Given the description of an element on the screen output the (x, y) to click on. 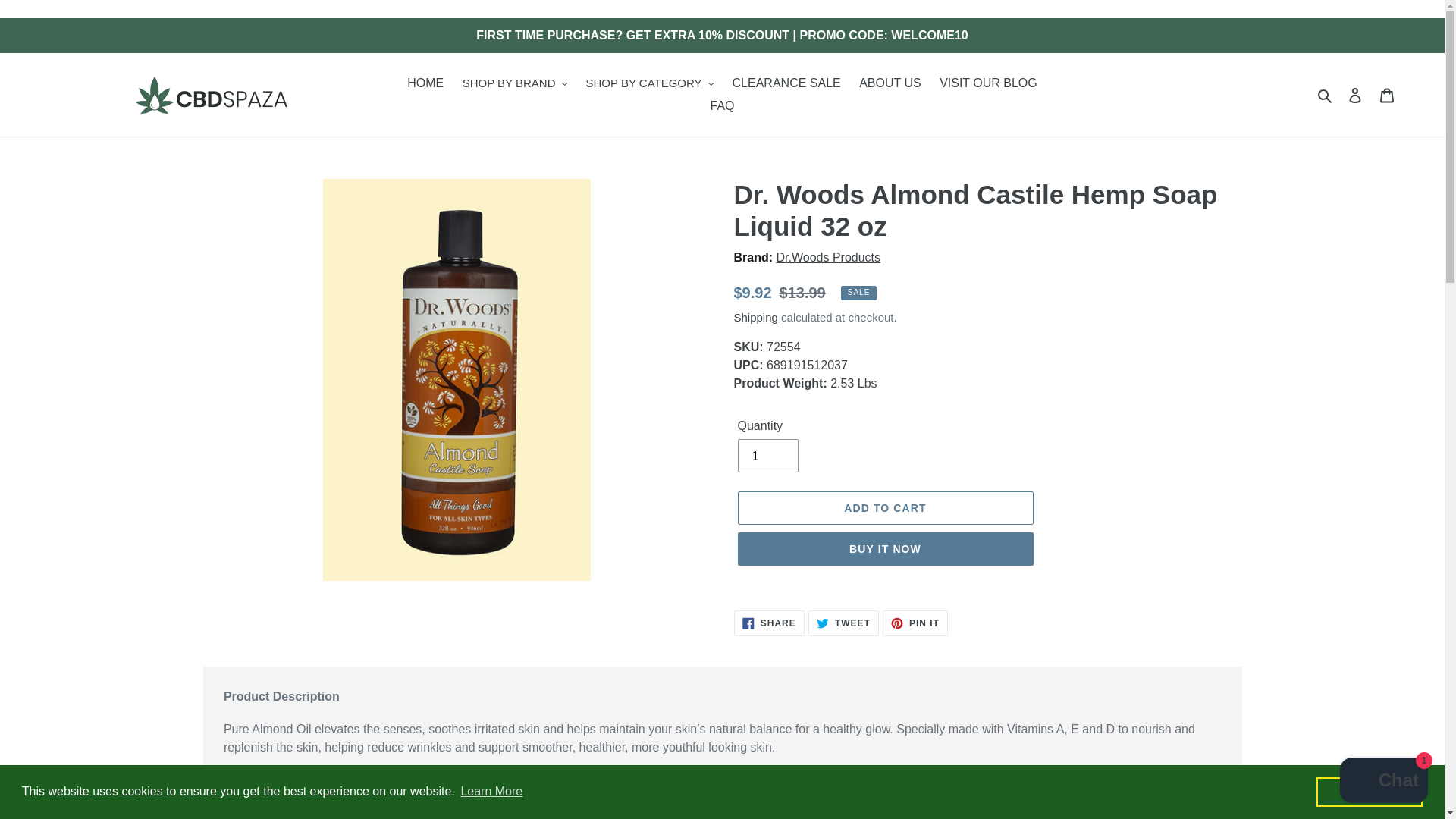
Got it! (1369, 791)
SHOP BY BRAND (514, 83)
1 (766, 455)
Shopify online store chat (1383, 781)
HOME (424, 83)
Learn More (491, 791)
